Given the description of an element on the screen output the (x, y) to click on. 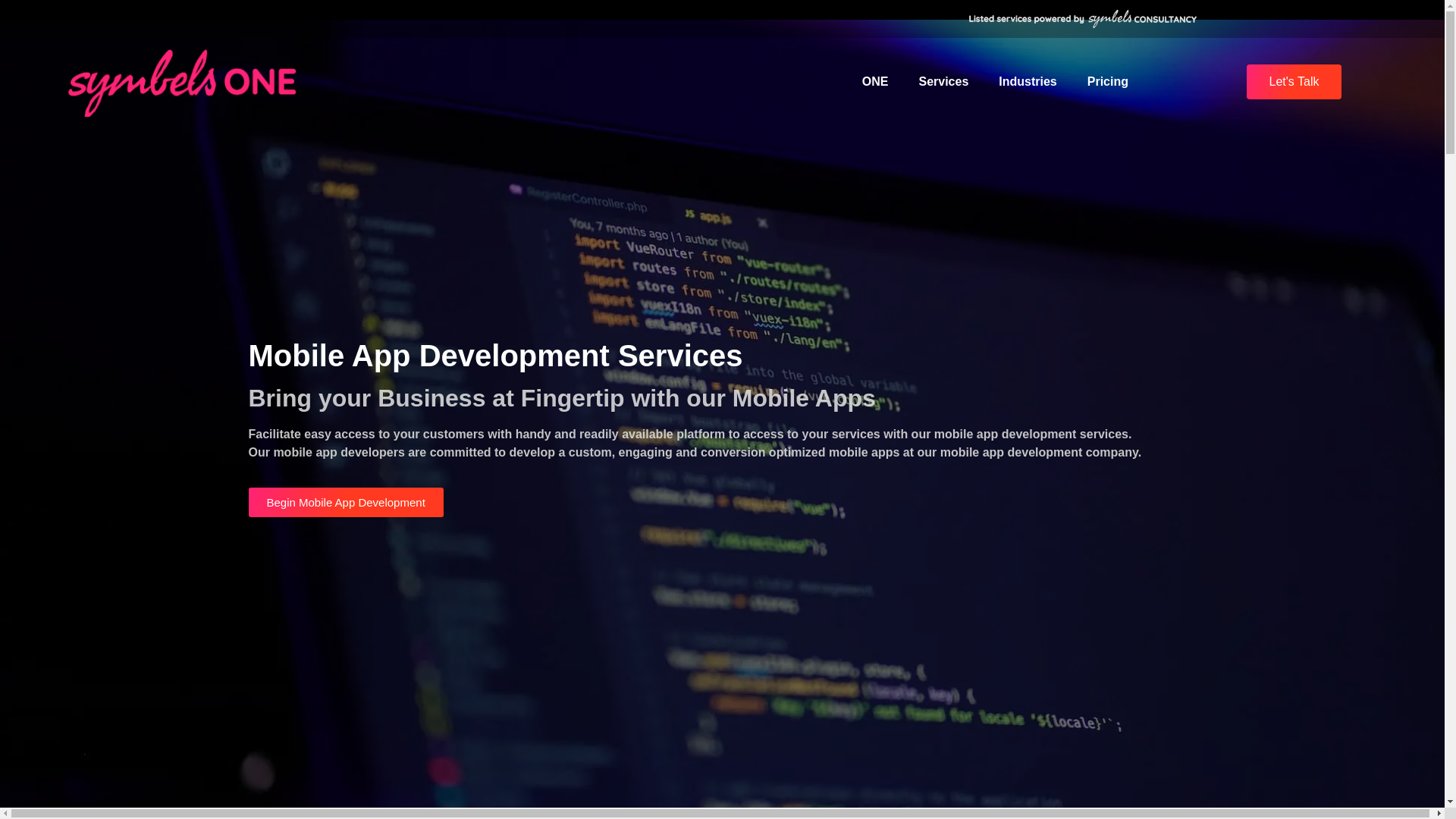
Let's Talk (1294, 81)
ONE (875, 81)
Industries (1027, 81)
Begin Mobile App Development (346, 501)
Services (943, 81)
Pricing (1106, 81)
